Given the description of an element on the screen output the (x, y) to click on. 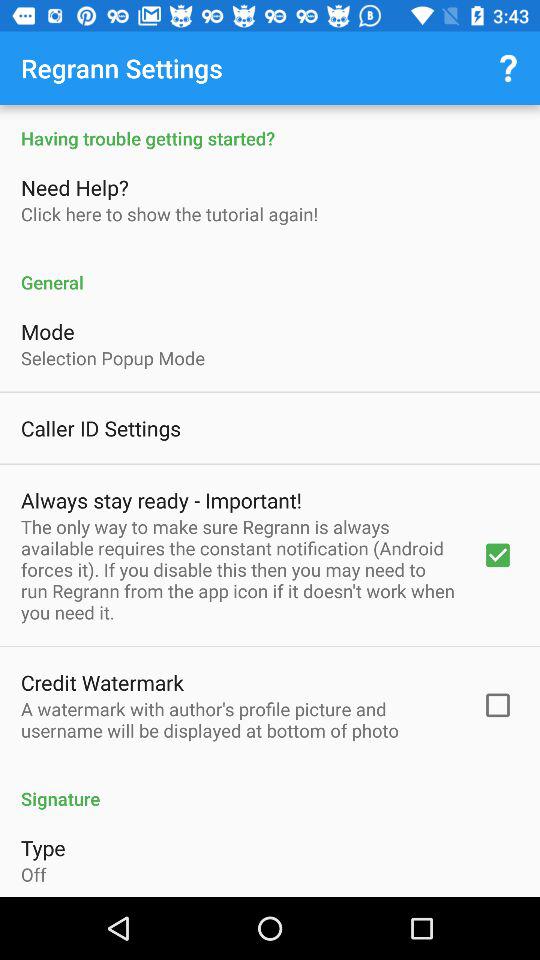
launch icon next to the regrann settings app (508, 67)
